Given the description of an element on the screen output the (x, y) to click on. 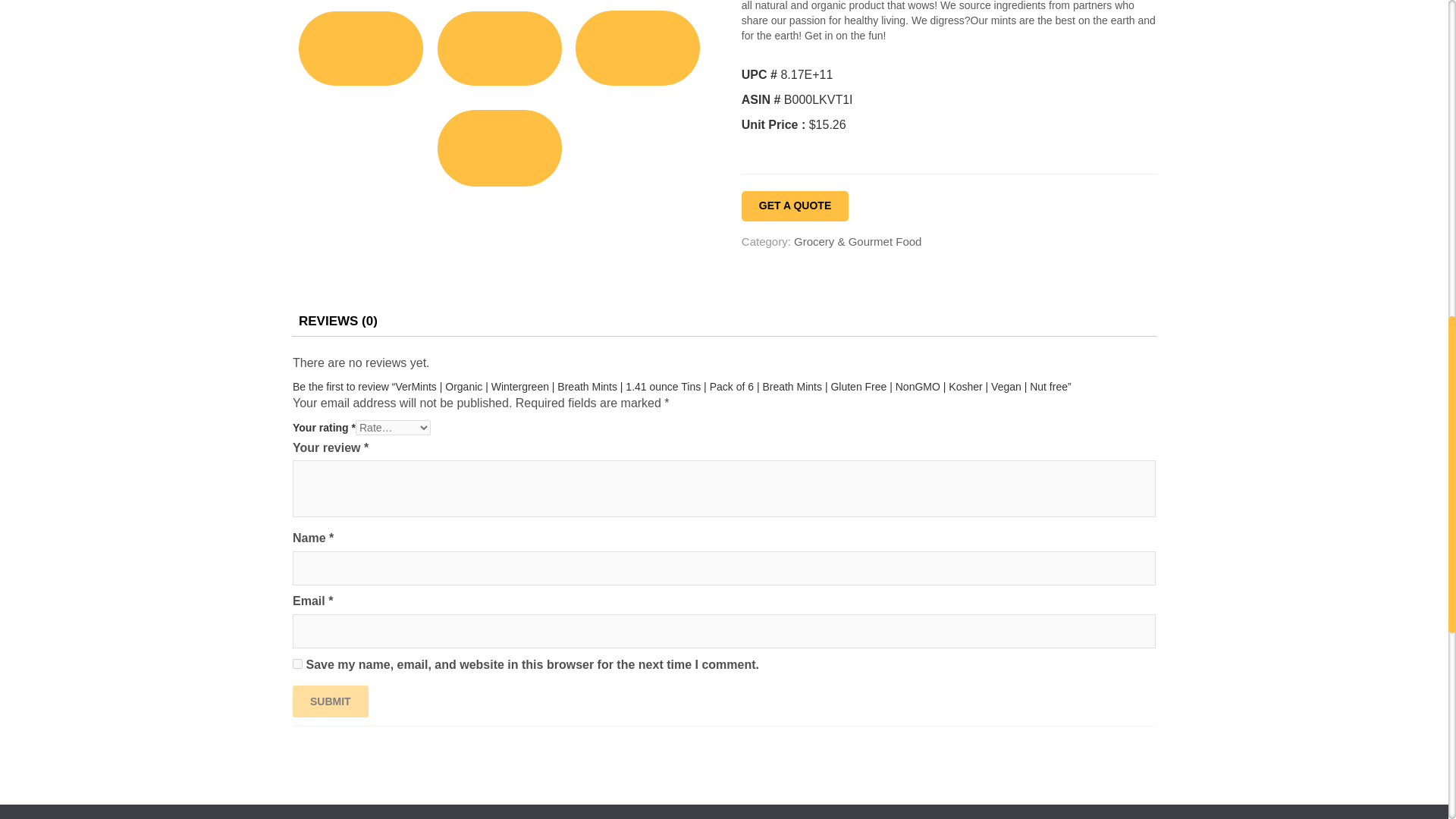
yes (297, 664)
Submit (330, 701)
GET A QUOTE (794, 205)
Submit (330, 701)
